Given the description of an element on the screen output the (x, y) to click on. 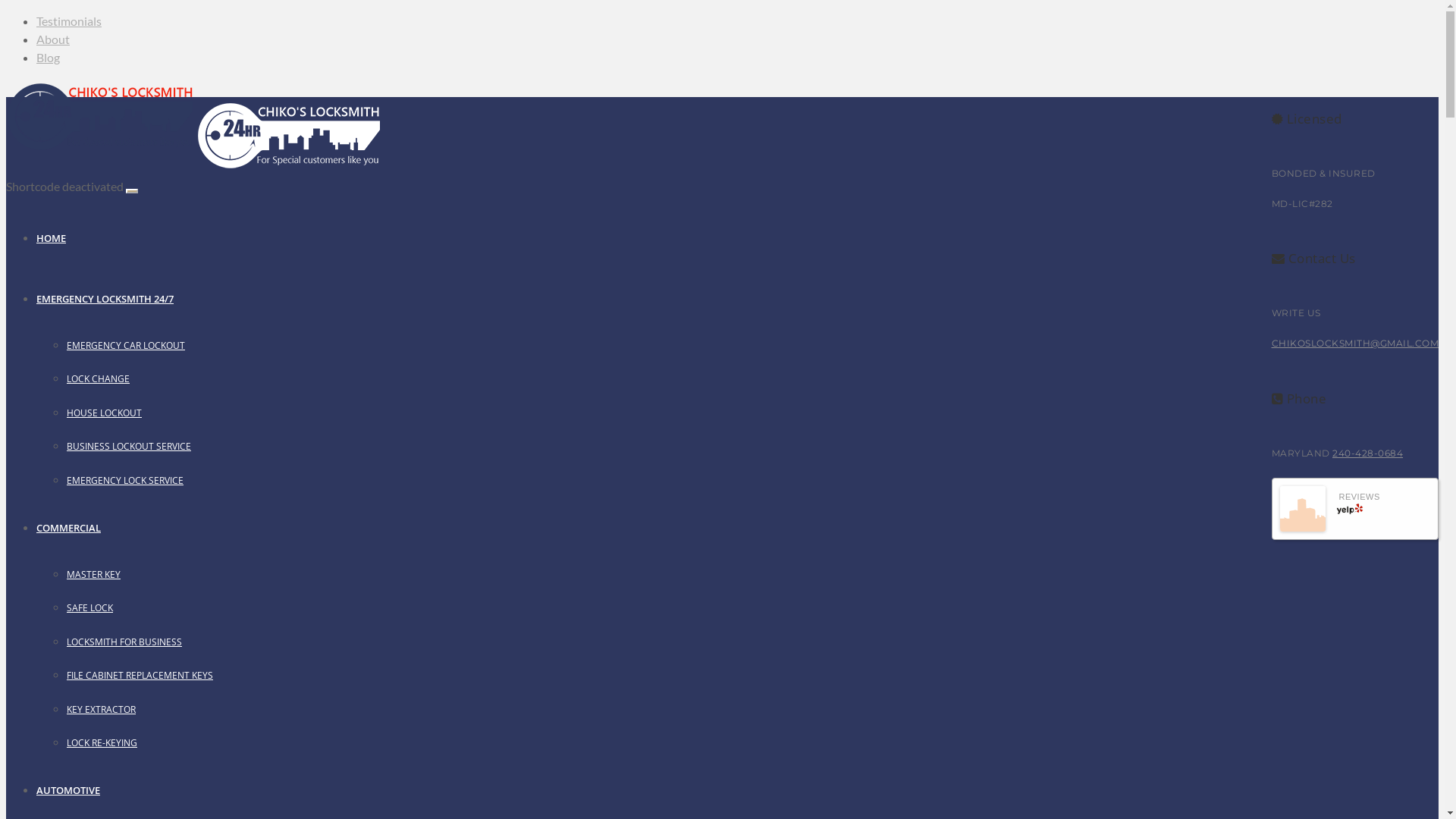
EMERGENCY CAR LOCKOUT Element type: text (125, 344)
MASTER KEY Element type: text (93, 573)
KEY EXTRACTOR Element type: text (100, 708)
Blog Element type: text (47, 57)
BUSINESS LOCKOUT SERVICE Element type: text (128, 445)
EMERGENCY LOCK SERVICE Element type: text (124, 479)
AUTOMOTIVE Element type: text (68, 790)
SAFE LOCK Element type: text (89, 607)
HOUSE LOCKOUT Element type: text (103, 412)
HOME Element type: text (50, 237)
TOGGLE NAVIGATION Element type: text (131, 190)
FILE CABINET REPLACEMENT KEYS Element type: text (139, 674)
CHIKOSLOCKSMITH@GMAIL.COM Element type: text (1354, 342)
LOCK CHANGE Element type: text (97, 378)
COMMERCIAL Element type: text (68, 527)
240-428-0684 Element type: text (1367, 452)
Testimonials Element type: text (68, 20)
LOCKSMITH FOR BUSINESS Element type: text (124, 641)
EMERGENCY LOCKSMITH 24/7 Element type: text (104, 298)
About Element type: text (52, 38)
LOCK RE-KEYING Element type: text (101, 742)
